Given the description of an element on the screen output the (x, y) to click on. 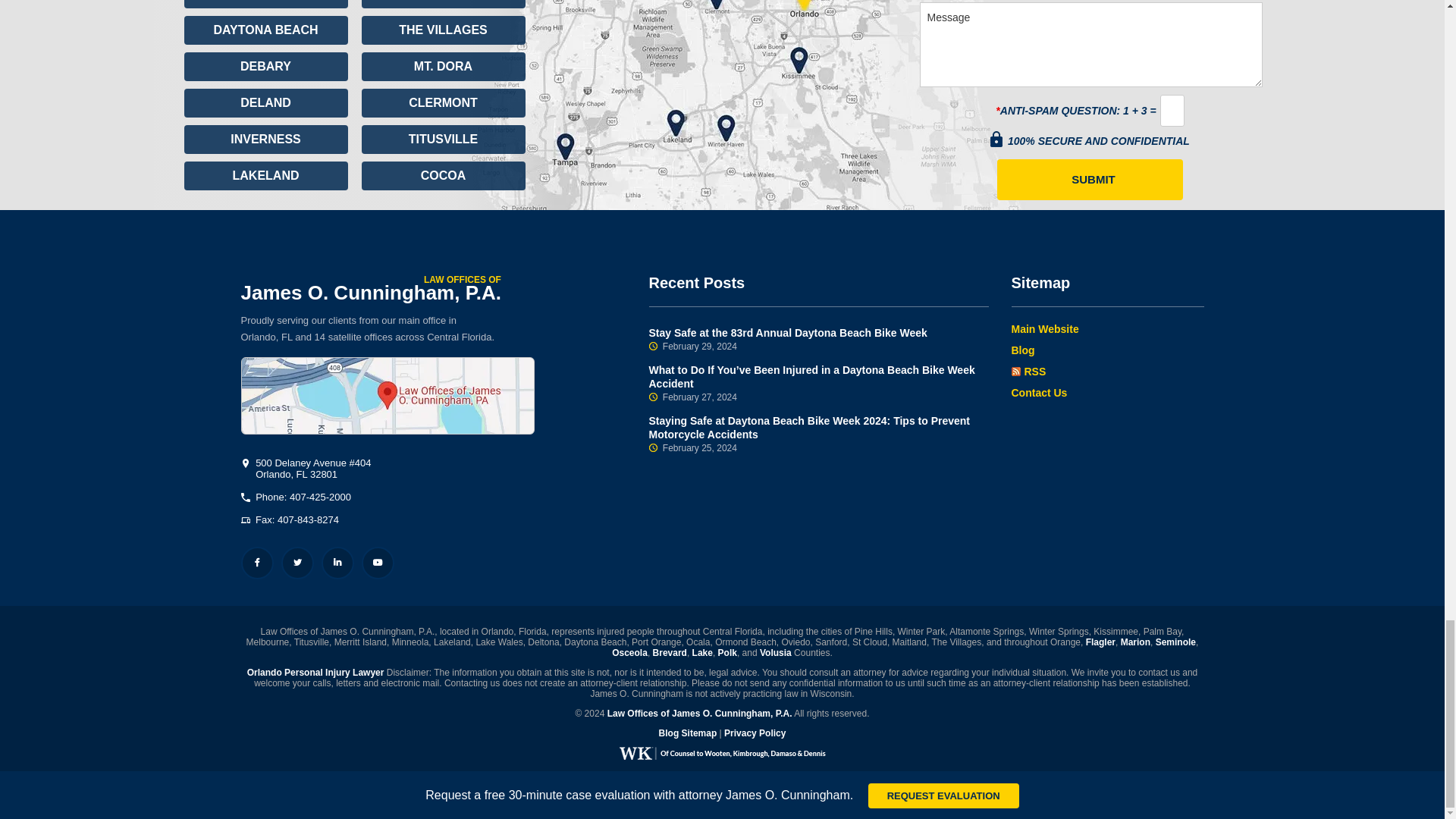
Stay Safe at the 83rd Annual Daytona Beach Bike Week (818, 338)
Submit (1089, 178)
